Given the description of an element on the screen output the (x, y) to click on. 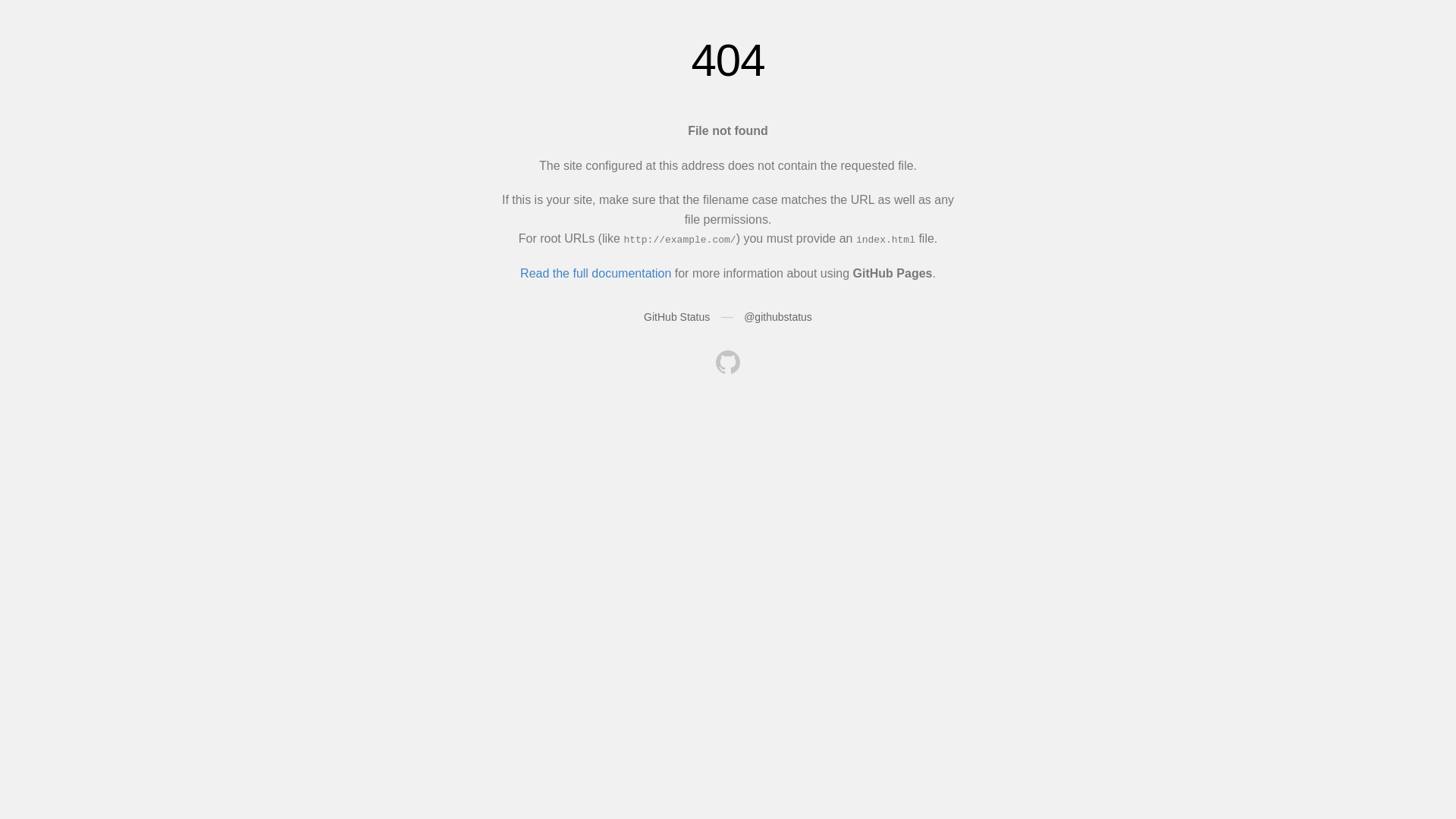
GitHub Status Element type: text (676, 316)
@githubstatus Element type: text (777, 316)
Read the full documentation Element type: text (595, 272)
